Given the description of an element on the screen output the (x, y) to click on. 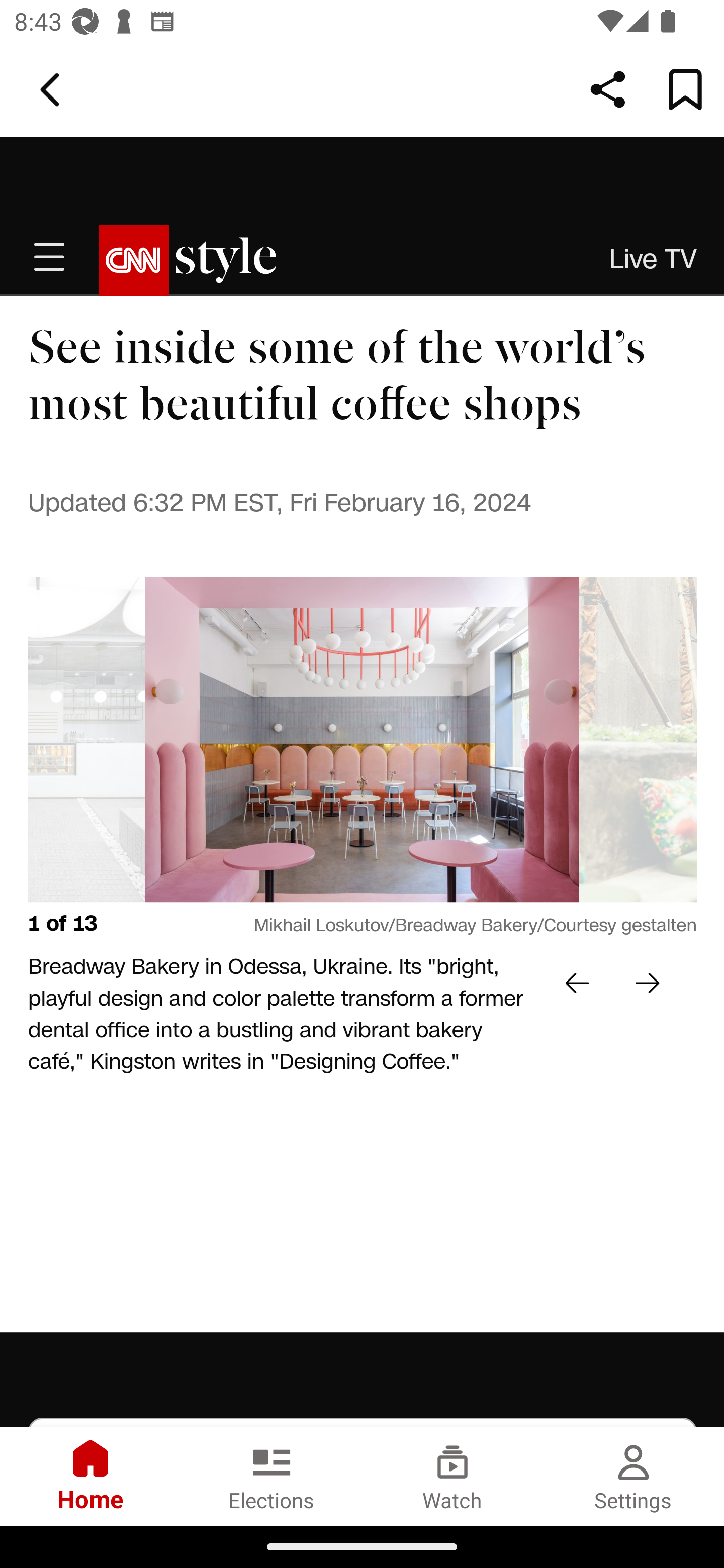
Back Button (52, 89)
Share (607, 89)
Bookmark (685, 89)
Elections (271, 1475)
Watch (452, 1475)
Settings (633, 1475)
